Given the description of an element on the screen output the (x, y) to click on. 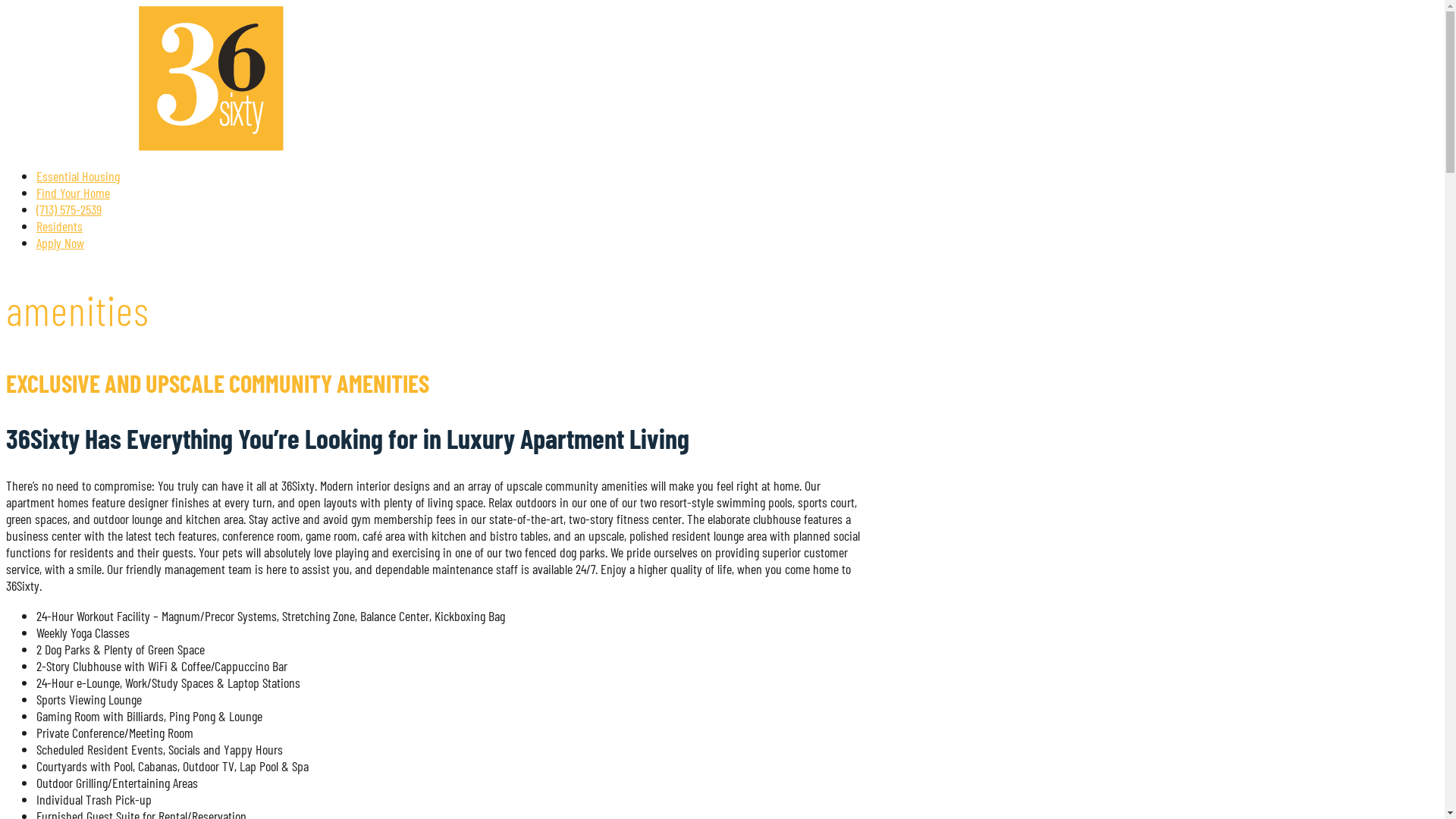
Essential Housing Element type: text (77, 175)
Find Your Home Element type: text (72, 192)
Apply Now Element type: text (60, 242)
Residents Element type: text (59, 225)
(713) 575-2539 Element type: text (68, 208)
